Given the description of an element on the screen output the (x, y) to click on. 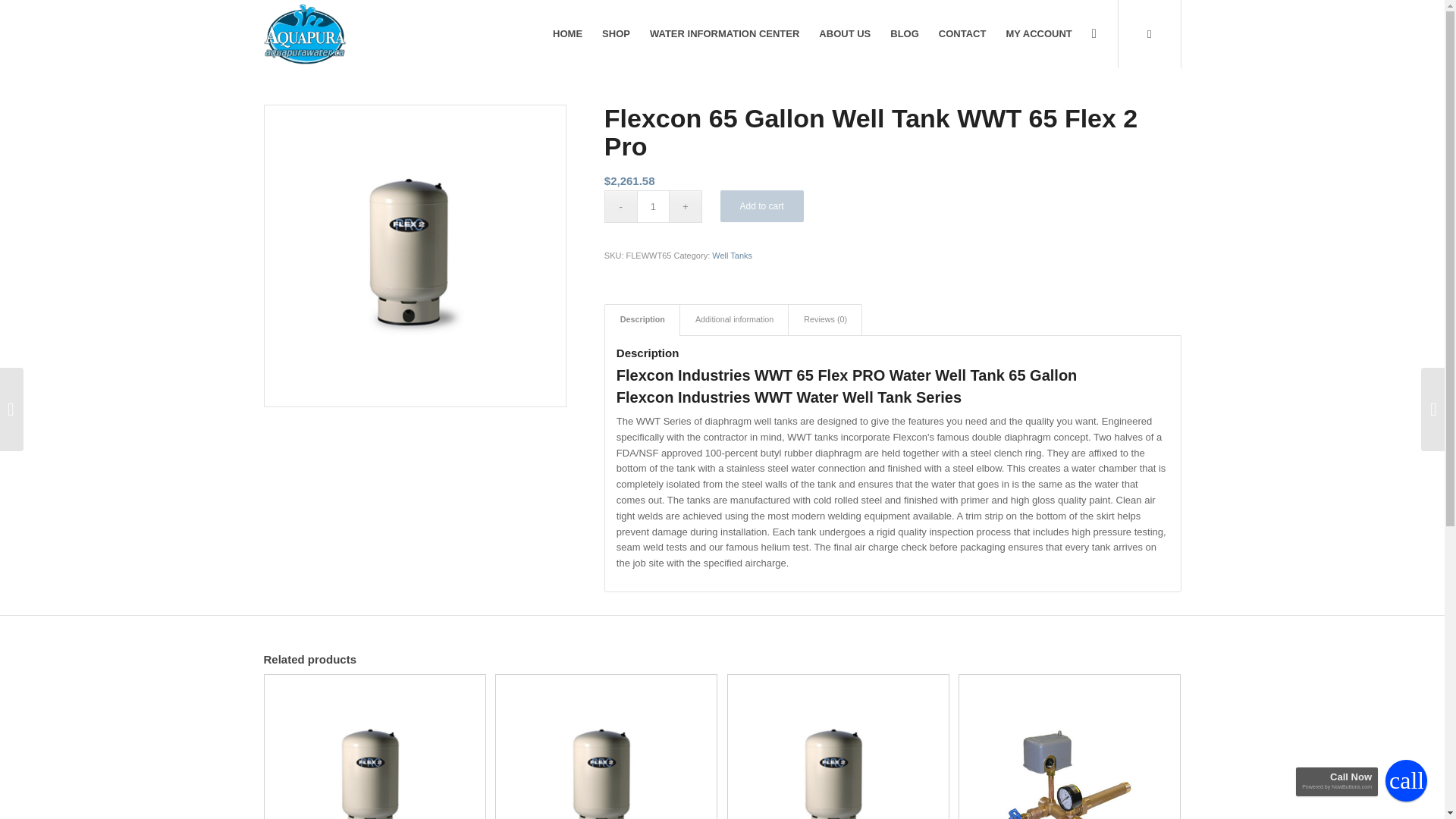
ABOUT US (844, 33)
Add to cart (761, 205)
1 (653, 206)
WATER INFORMATION CENTER (724, 33)
Description (641, 318)
CONTACT (961, 33)
Well Tanks (731, 255)
- (620, 206)
MY ACCOUNT (1038, 33)
Additional information (734, 318)
